Given the description of an element on the screen output the (x, y) to click on. 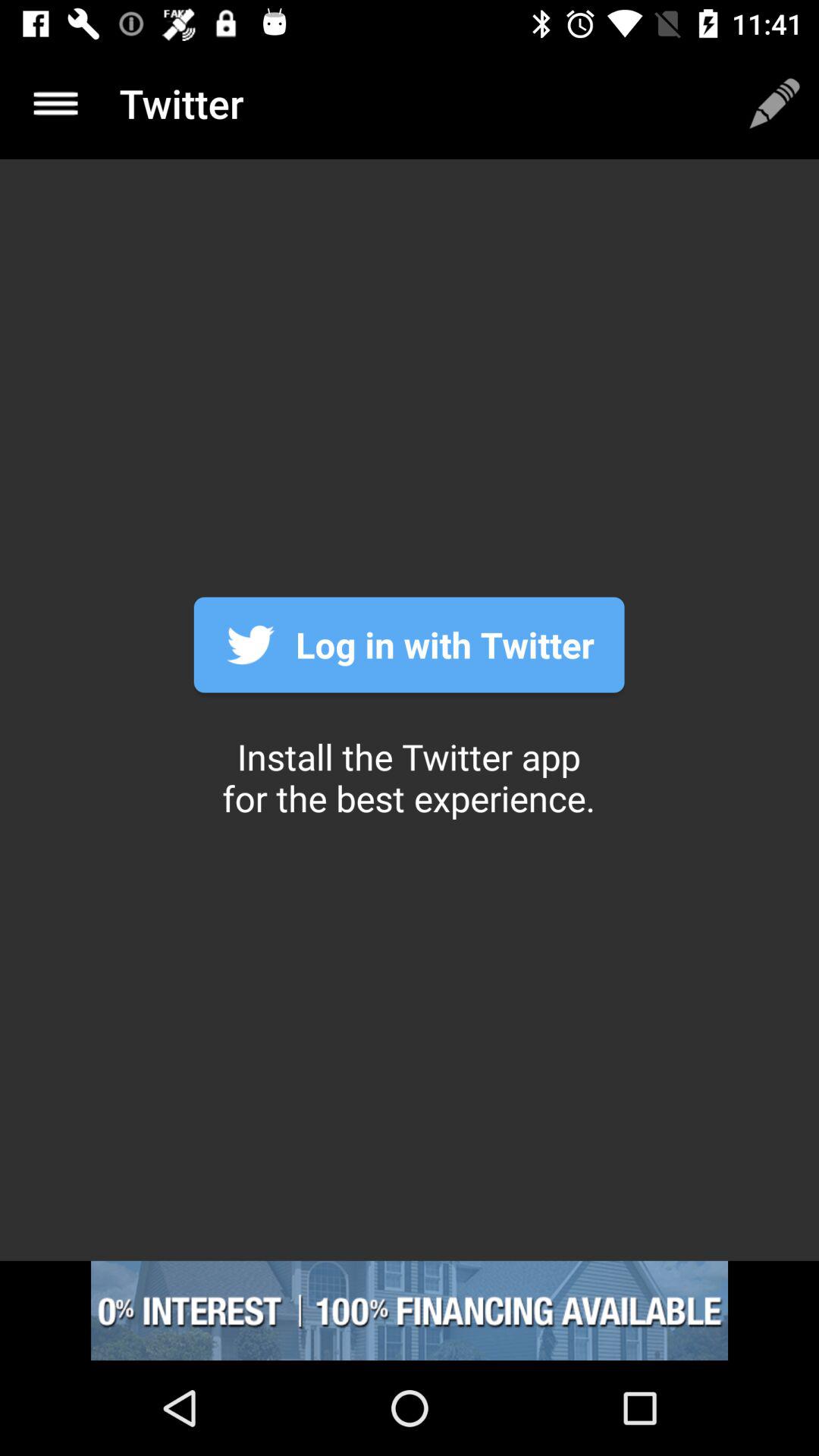
showing the advertisement (409, 1310)
